Given the description of an element on the screen output the (x, y) to click on. 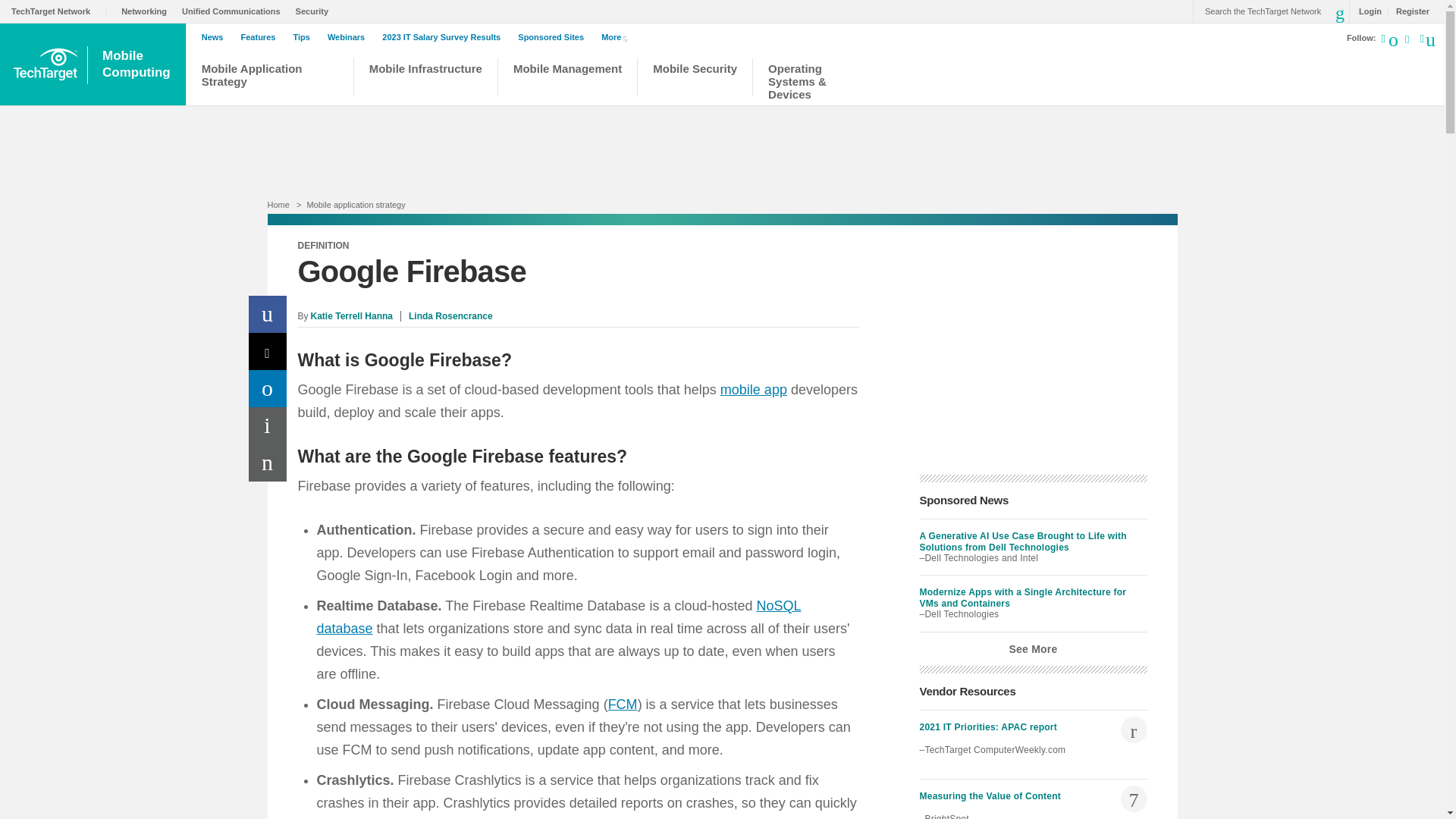
Register (1408, 10)
Mobile application strategy (354, 204)
Share on Facebook (267, 313)
Sponsored Sites (554, 36)
Mobile Management (567, 79)
Share on X (267, 351)
News (216, 36)
Networking (138, 64)
Mobile Application Strategy (147, 10)
